Given the description of an element on the screen output the (x, y) to click on. 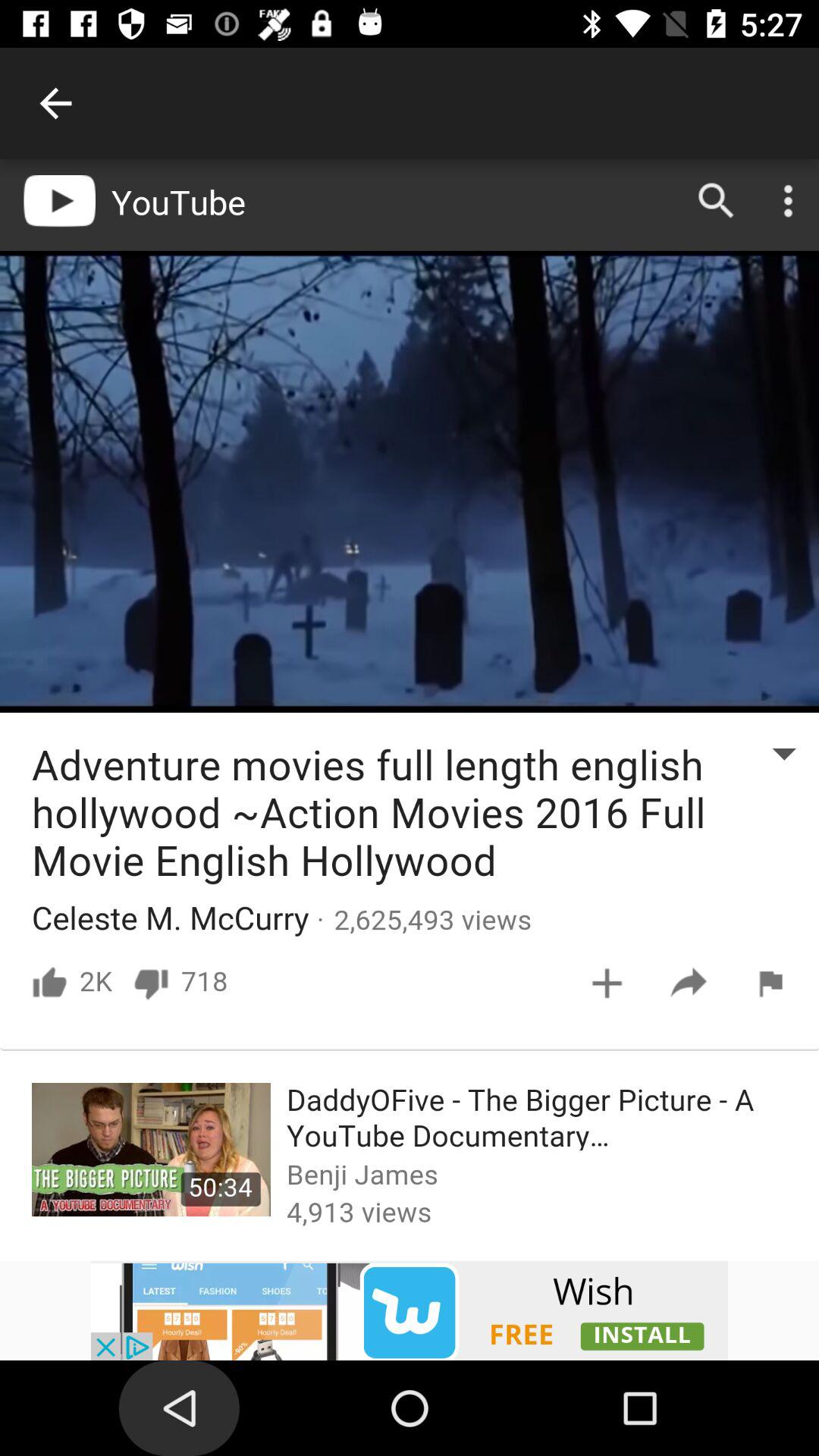
open advertisement (409, 1310)
